Given the description of an element on the screen output the (x, y) to click on. 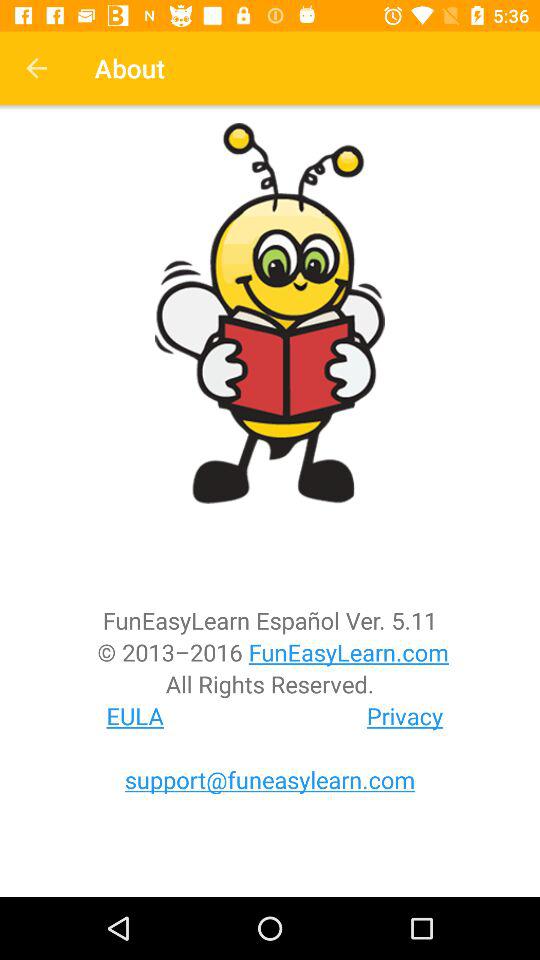
launch the item below the all rights reserved. icon (135, 715)
